Given the description of an element on the screen output the (x, y) to click on. 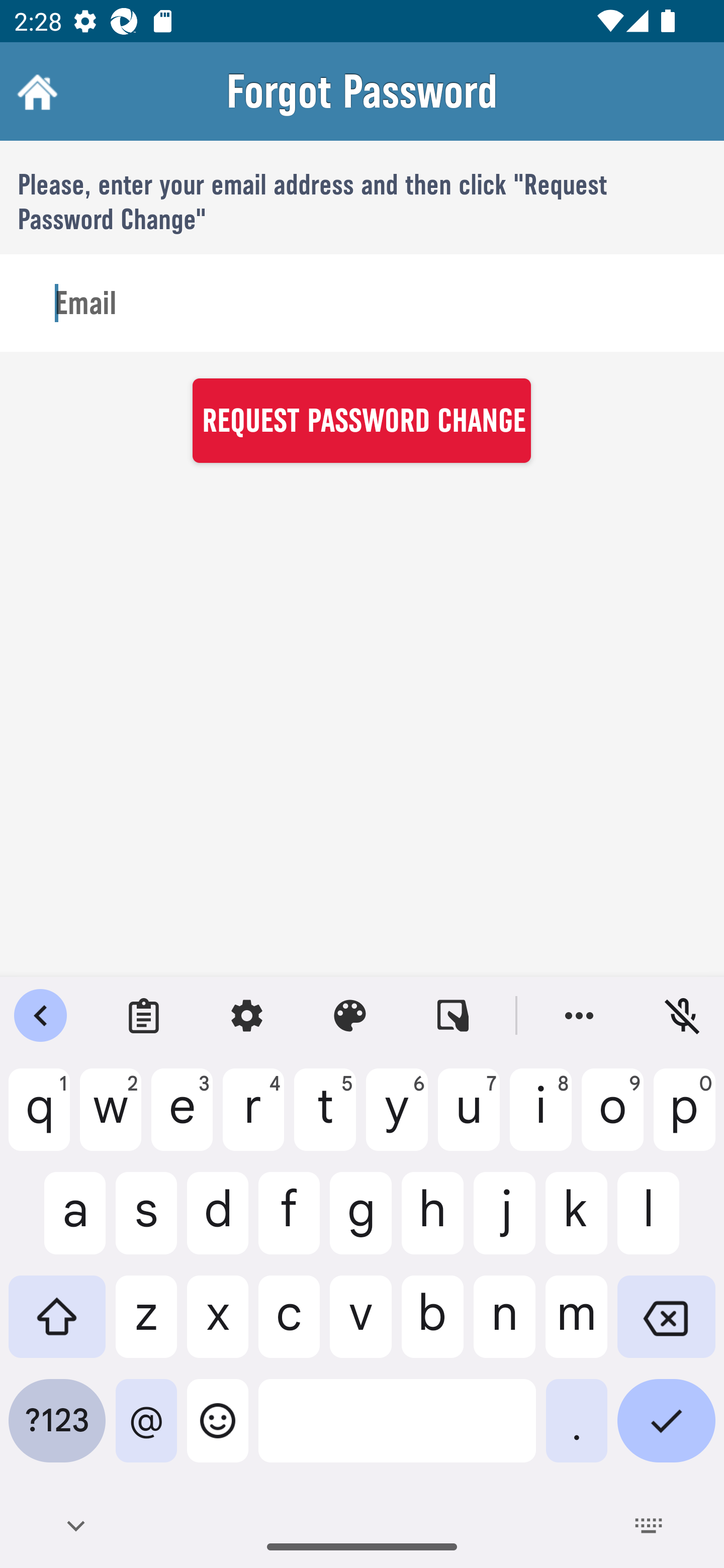
Home (35, 91)
Email (361, 303)
REQUEST PASSWORD CHANGE (361, 419)
